Given the description of an element on the screen output the (x, y) to click on. 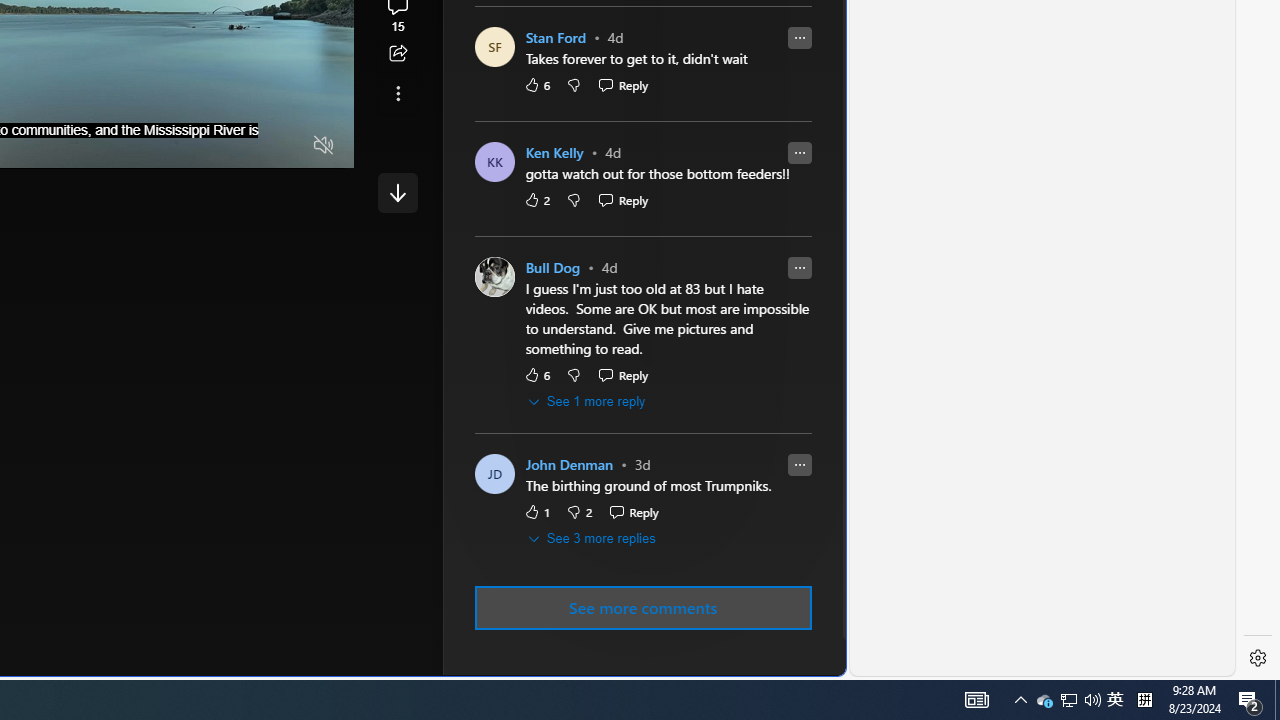
Stan Ford (555, 38)
AutomationID: e5rZOEMGacU1 (397, 192)
Profile Picture (493, 474)
John Denman (569, 465)
6 Like (536, 375)
See 3 more replies (592, 538)
Quality Settings (205, 146)
